Given the description of an element on the screen output the (x, y) to click on. 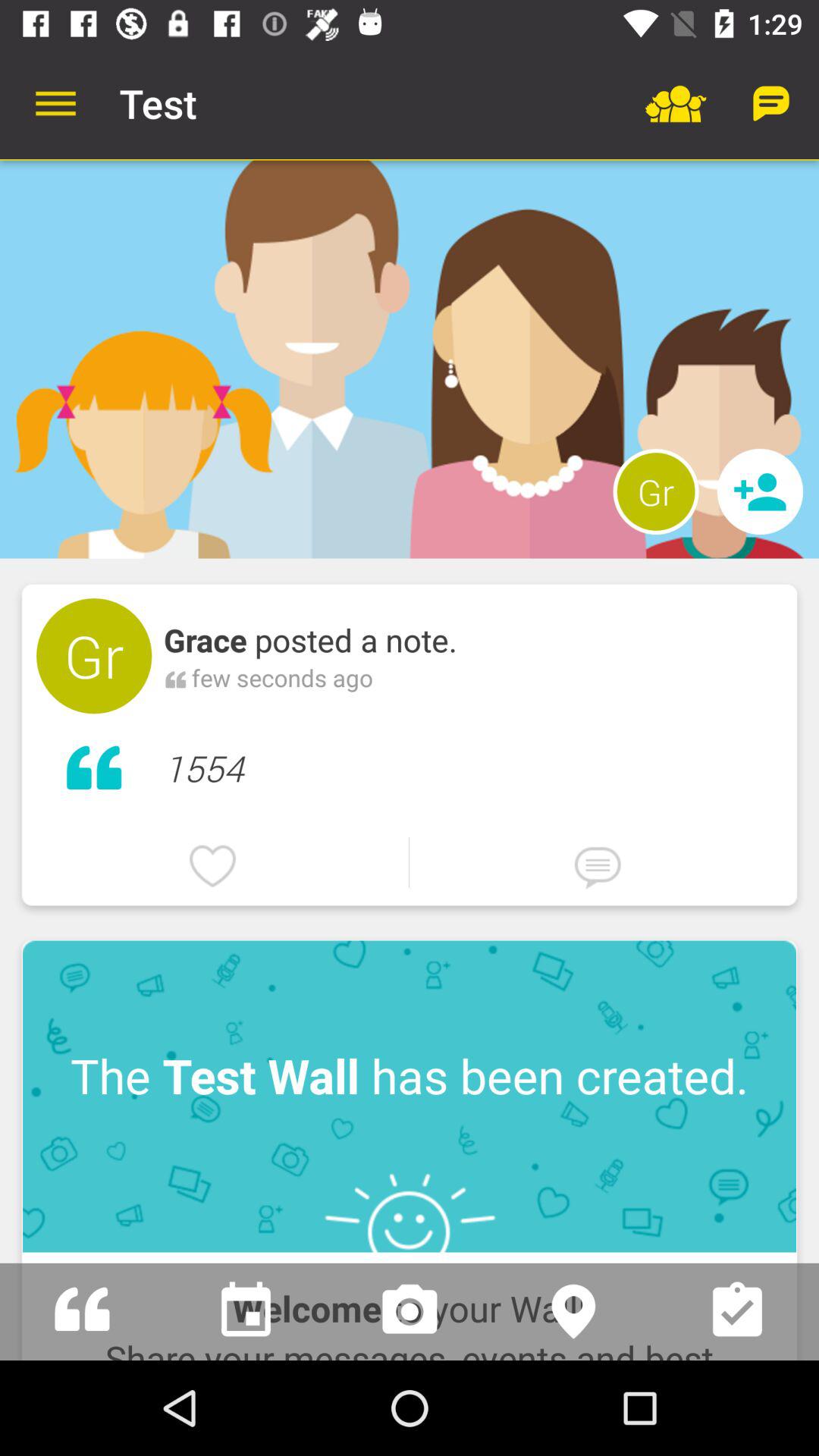
location identification (573, 1311)
